Given the description of an element on the screen output the (x, y) to click on. 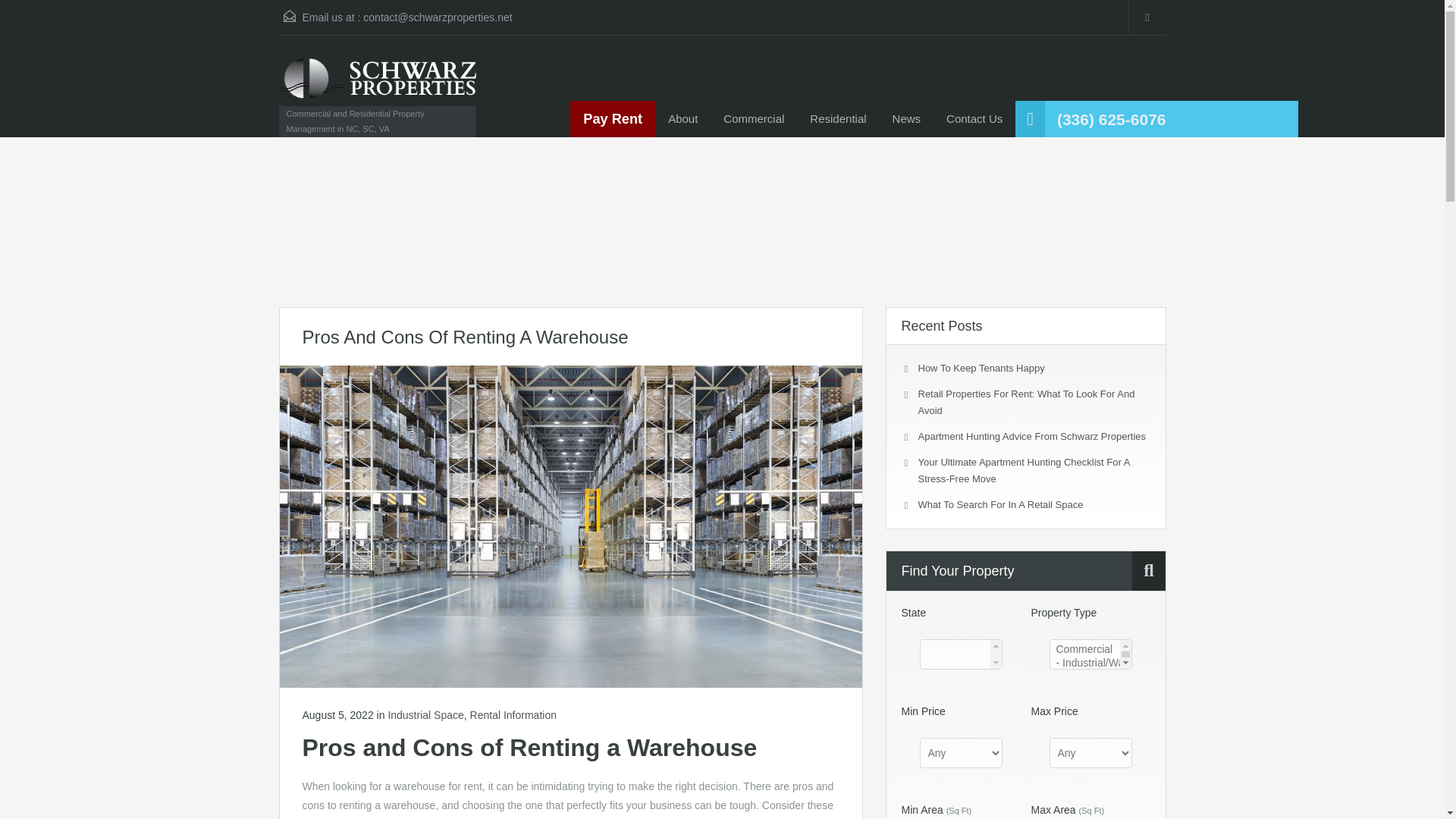
About (682, 118)
Contact Us (973, 118)
Pay Rent (612, 118)
Make a Call (1111, 119)
Schwarz Properties (377, 85)
Industrial Space (425, 715)
All Locations (959, 654)
Residential (837, 118)
News (906, 118)
All Types (1090, 654)
